Given the description of an element on the screen output the (x, y) to click on. 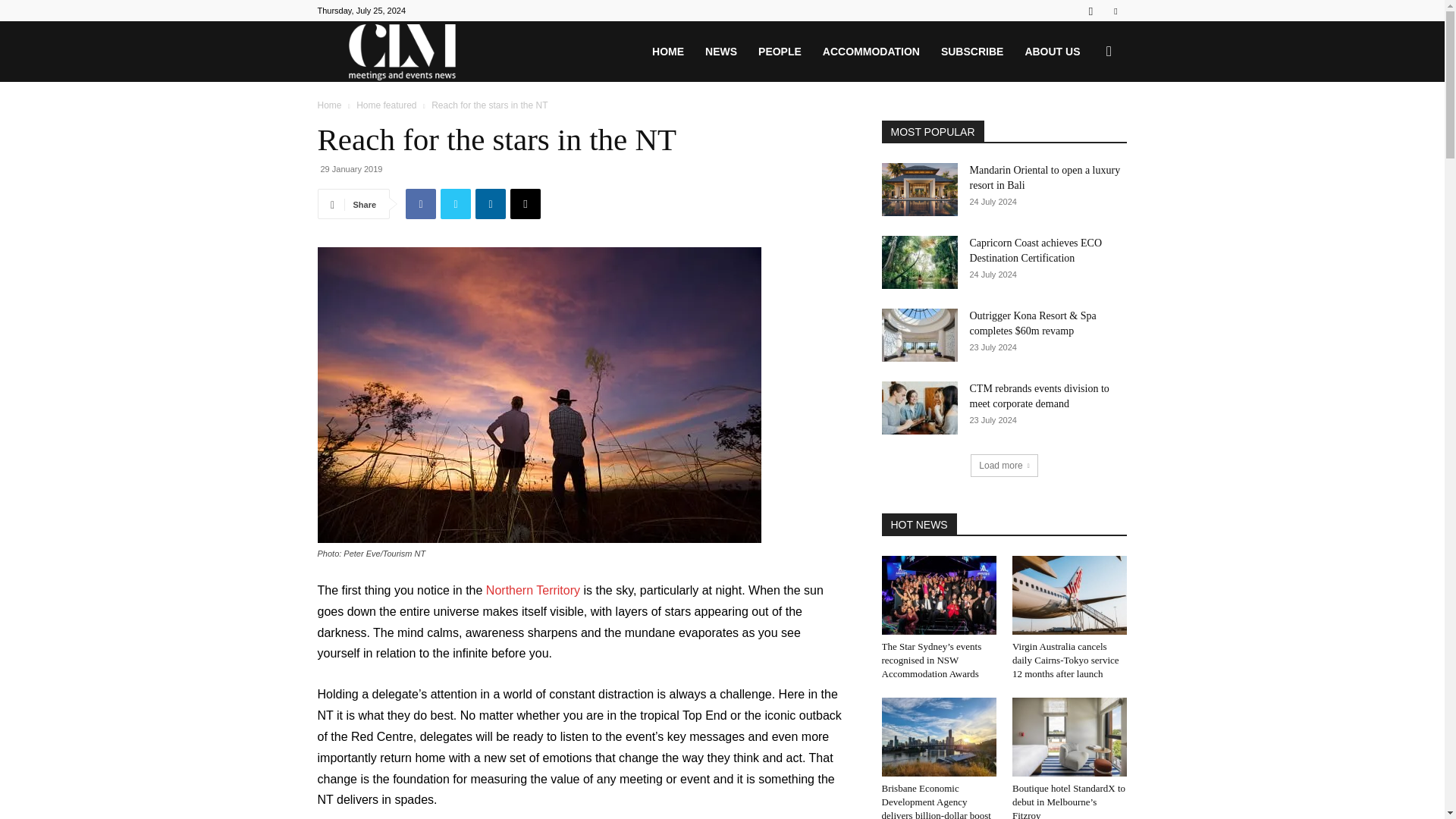
HOME (668, 51)
SUBSCRIBE (971, 51)
NEWS (721, 51)
View all posts in Home featured (386, 104)
Linkedin (490, 204)
Twitter (1114, 10)
PEOPLE (780, 51)
ACCOMMODATION (871, 51)
CIM (401, 51)
ABOUT US (1051, 51)
Home featured (386, 104)
Instagram (1090, 10)
Search (1085, 124)
Twitter (455, 204)
Facebook (420, 204)
